Given the description of an element on the screen output the (x, y) to click on. 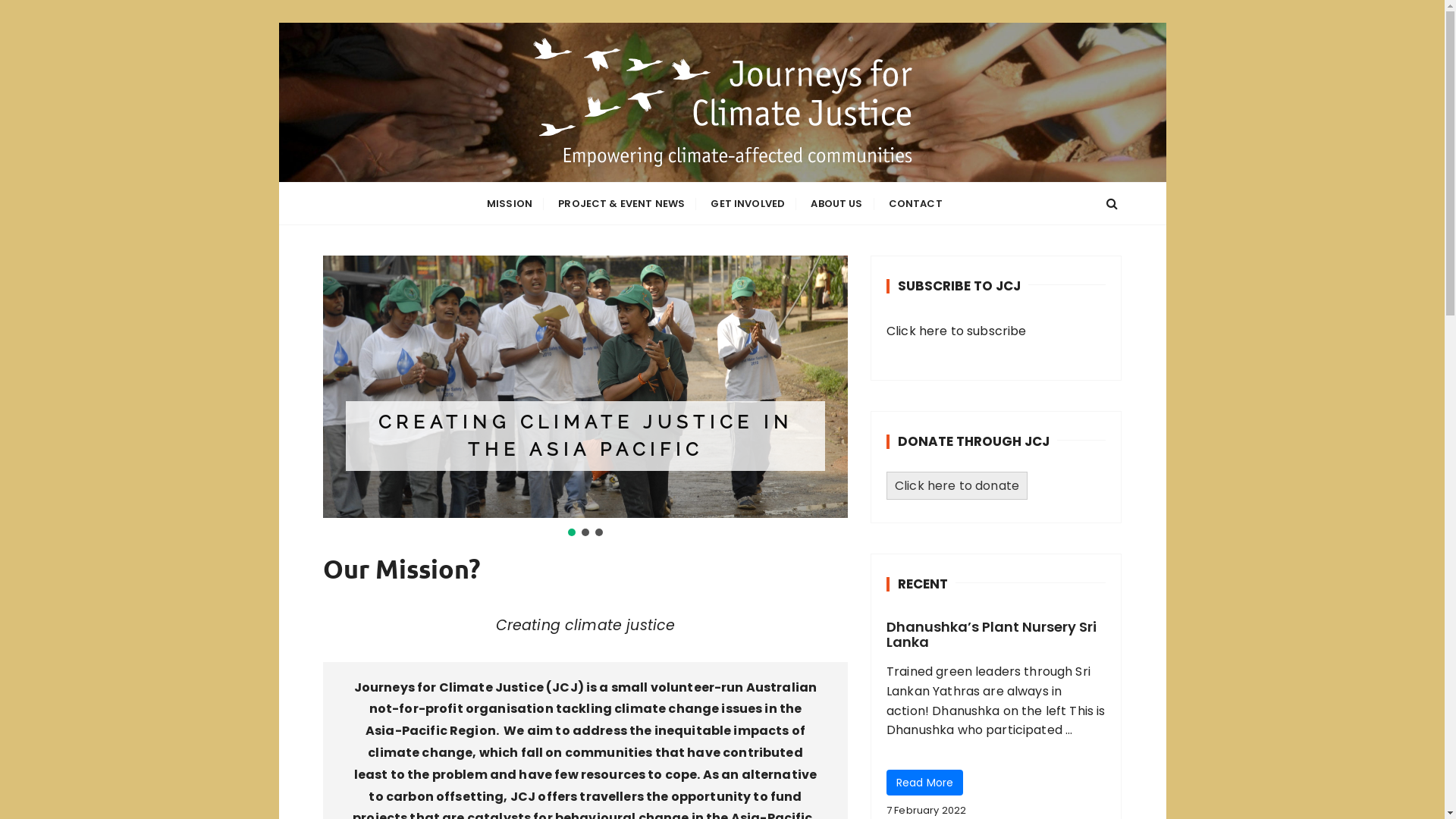
Read More Element type: text (924, 782)
Click here to subscribe Element type: text (956, 330)
PROJECT & EVENT NEWS Element type: text (621, 203)
Journeys for Climate Justice Element type: text (592, 192)
Skip to content Element type: text (277, 21)
Click here to donate Element type: text (956, 485)
GET INVOLVED Element type: text (747, 203)
CONTACT Element type: text (915, 203)
ABOUT US Element type: text (836, 203)
MISSION Element type: text (509, 203)
